Given the description of an element on the screen output the (x, y) to click on. 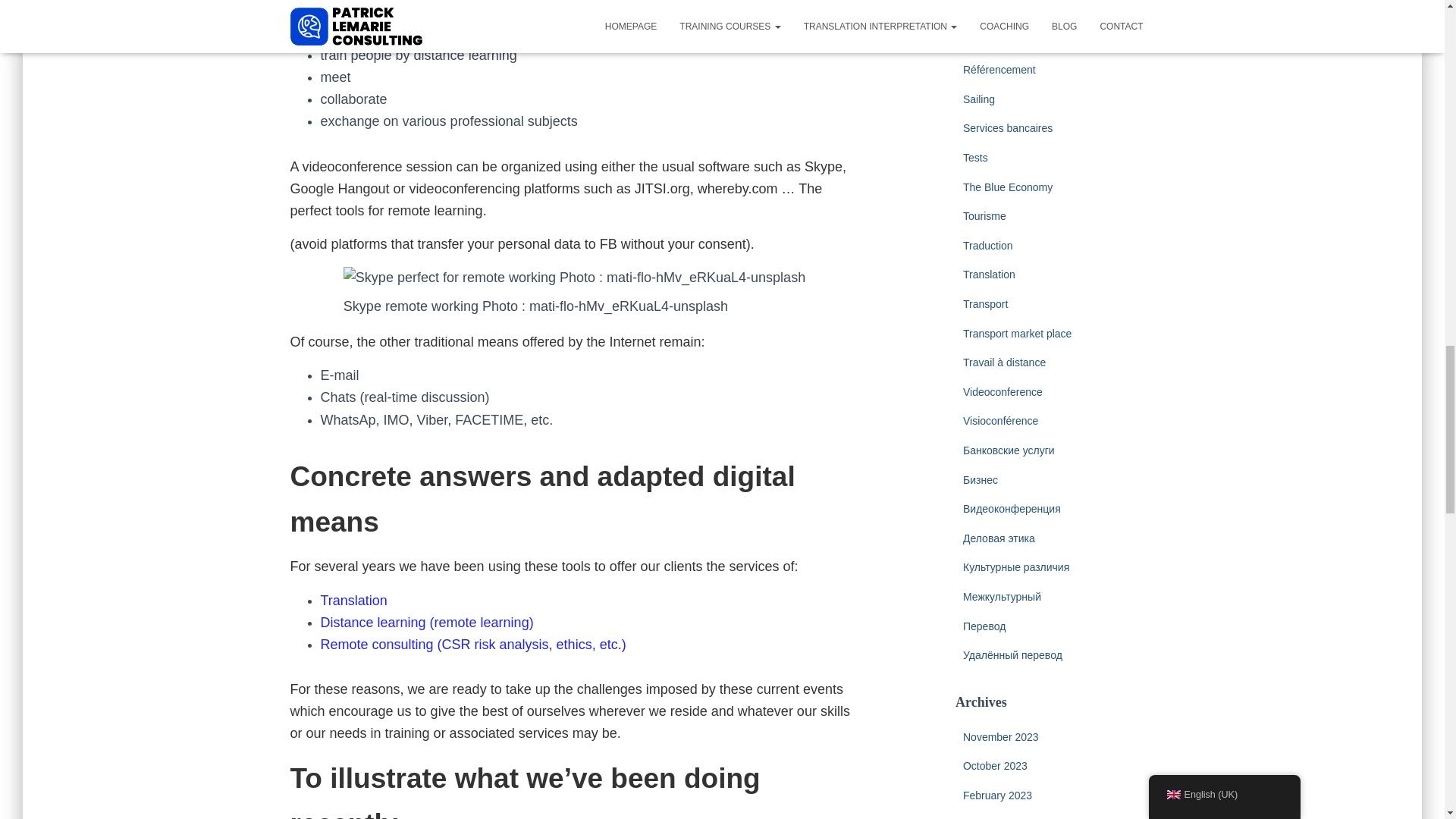
Translation (353, 600)
